Given the description of an element on the screen output the (x, y) to click on. 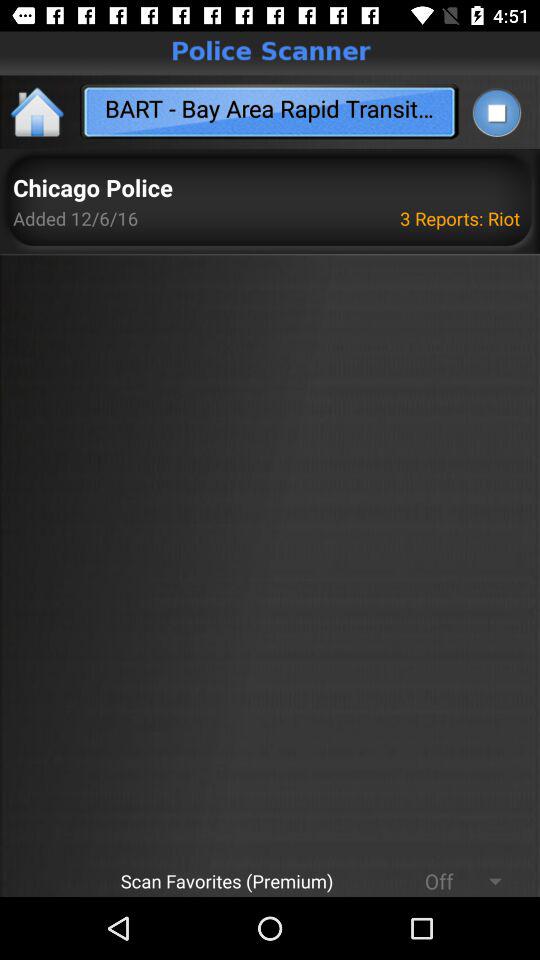
pause scanner (496, 111)
